Given the description of an element on the screen output the (x, y) to click on. 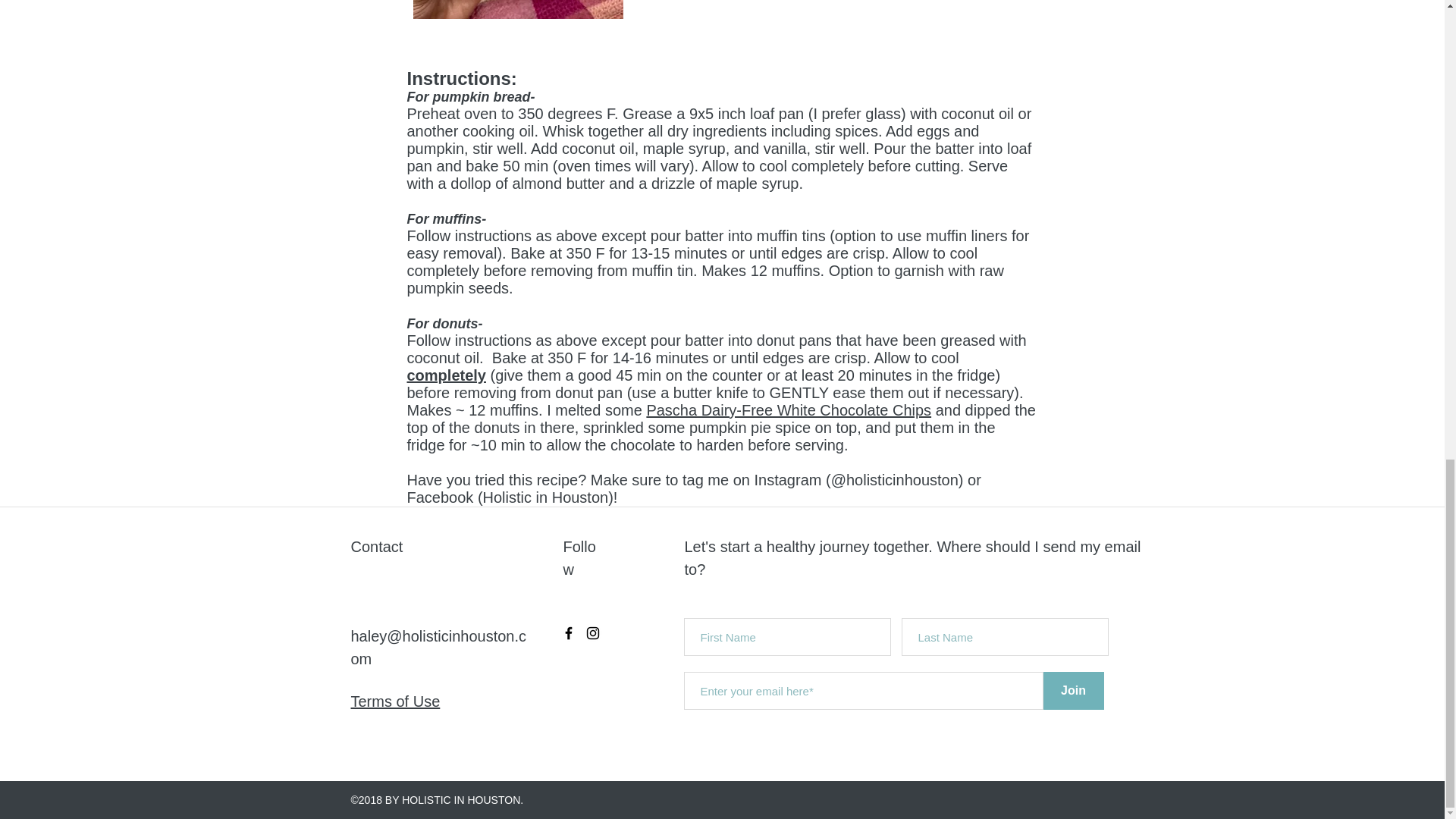
Join (1073, 690)
Pascha Dairy-Free White Chocolate Chips (788, 410)
Terms of Use (394, 701)
